Given the description of an element on the screen output the (x, y) to click on. 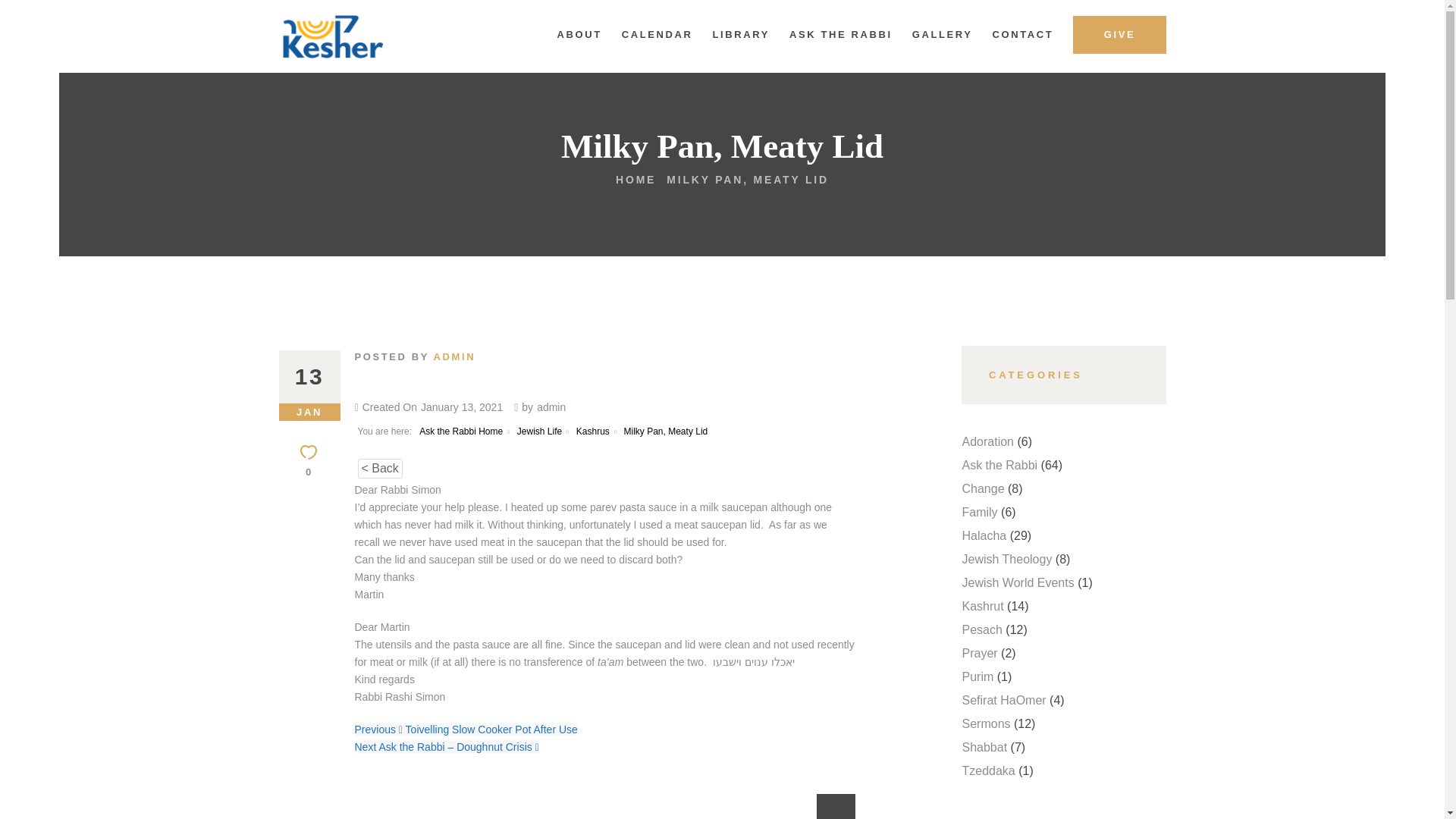
LIBRARY (741, 34)
Like (309, 461)
HOME (635, 179)
Toivelling Slow Cooker Pot After Use (488, 729)
GIVE (1119, 34)
CONTACT (1023, 34)
GALLERY (942, 34)
ASK THE RABBI (840, 34)
CALENDAR (657, 34)
ABOUT (579, 34)
